Given the description of an element on the screen output the (x, y) to click on. 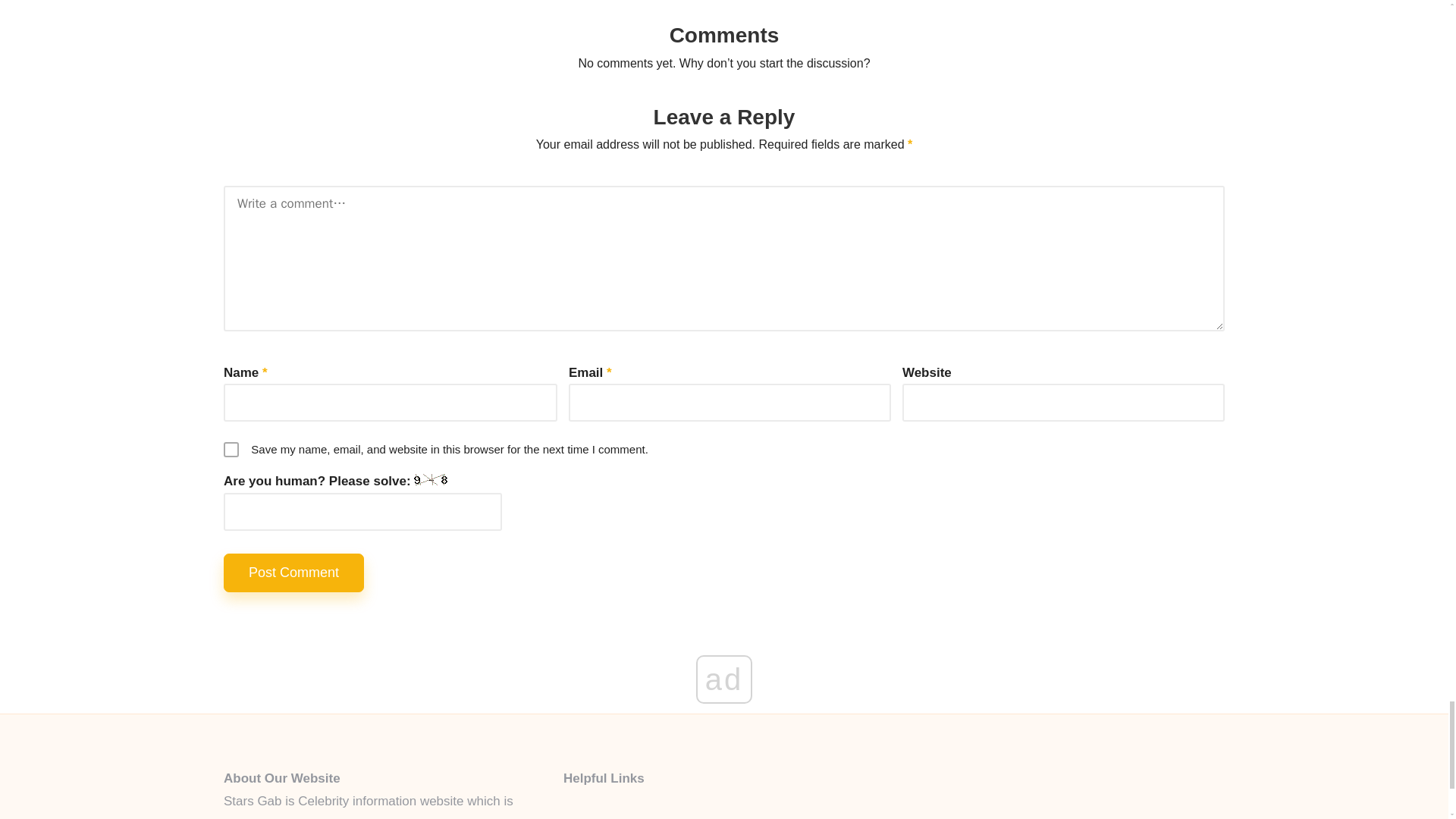
yes (231, 449)
Post Comment (294, 572)
